Given the description of an element on the screen output the (x, y) to click on. 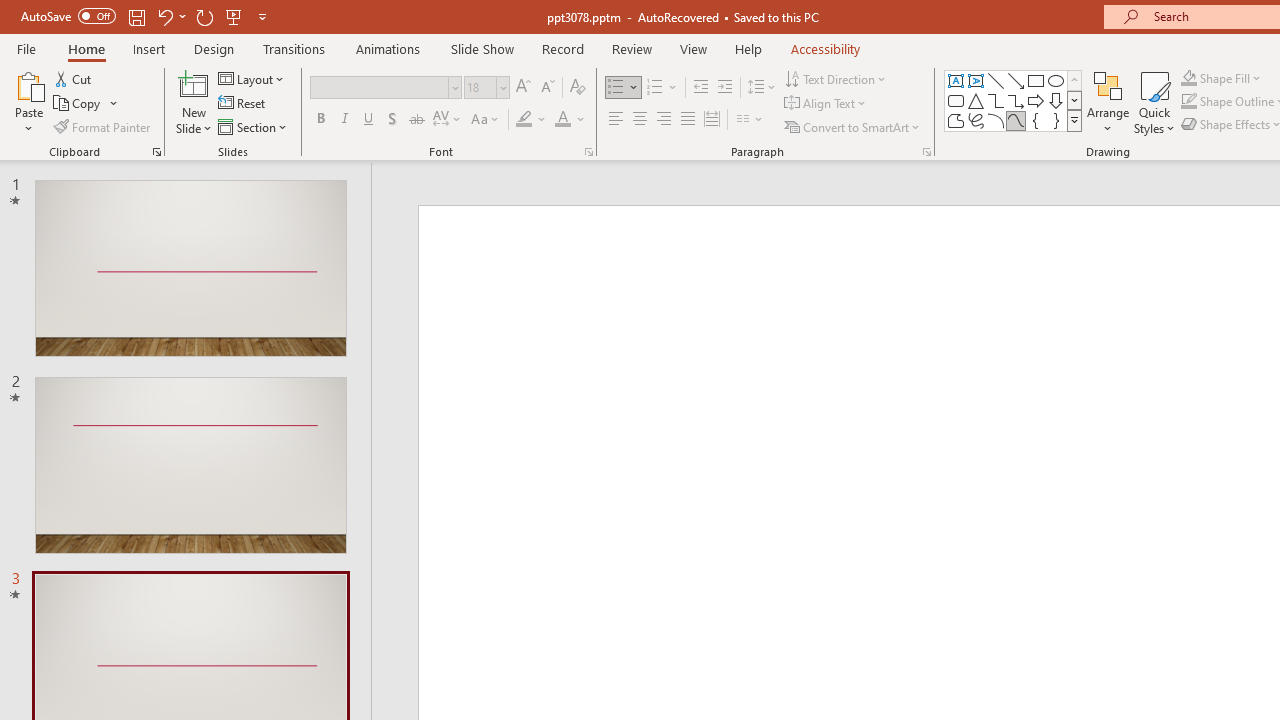
Shape Fill Dark Green, Accent 2 (1188, 78)
